Given the description of an element on the screen output the (x, y) to click on. 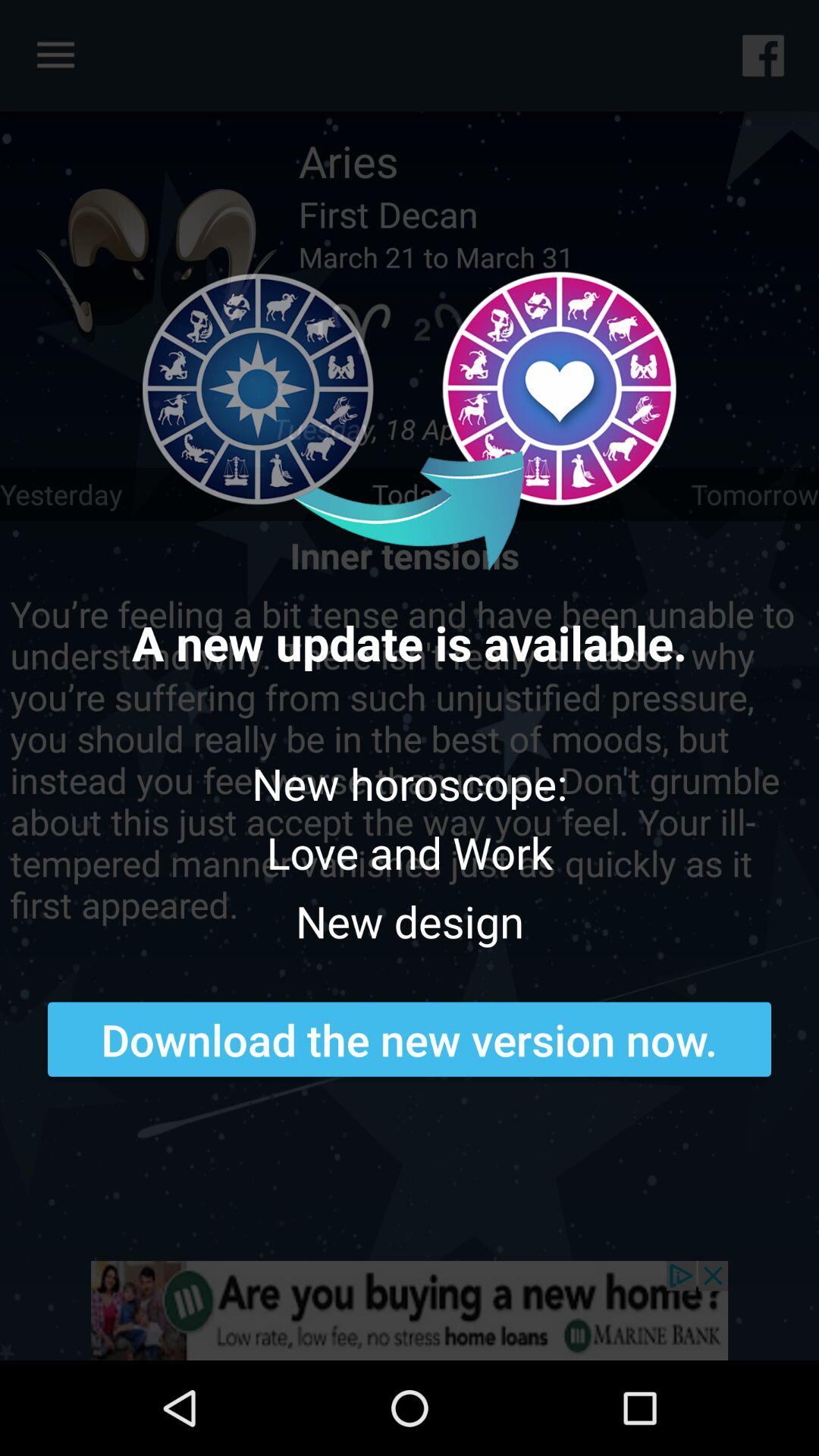
click download the new at the bottom (409, 1039)
